Given the description of an element on the screen output the (x, y) to click on. 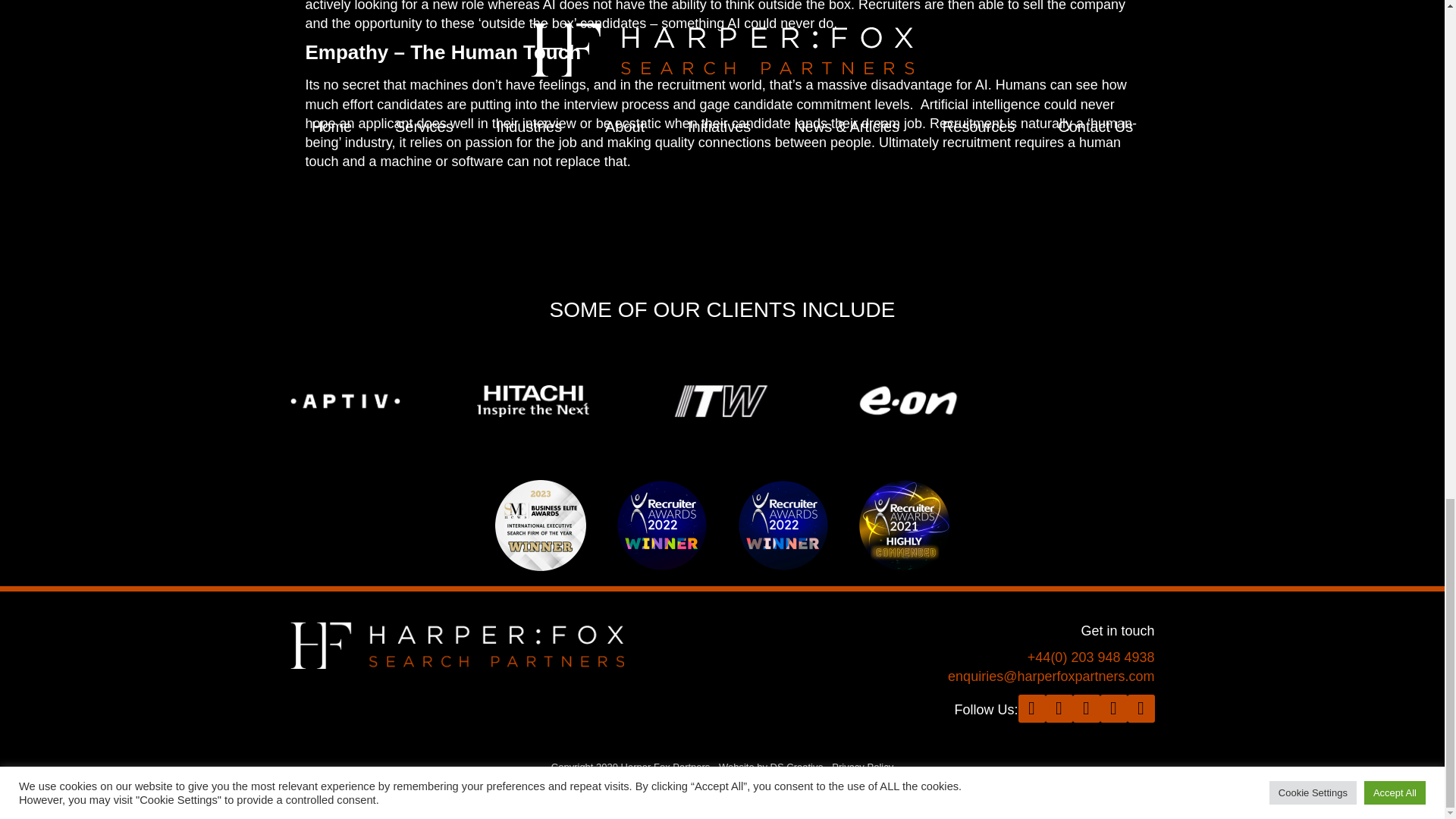
Harper Fox Search Partners Logo (456, 645)
Harper Fox LinkedIn (1058, 709)
Harper Fox Twitter (1031, 709)
DS Creative (797, 767)
Harper Fox Youtube (1112, 709)
Harper Fox Instagram (1085, 709)
Privacy Policy (862, 767)
Harper Fox Facebook (1140, 709)
